Given the description of an element on the screen output the (x, y) to click on. 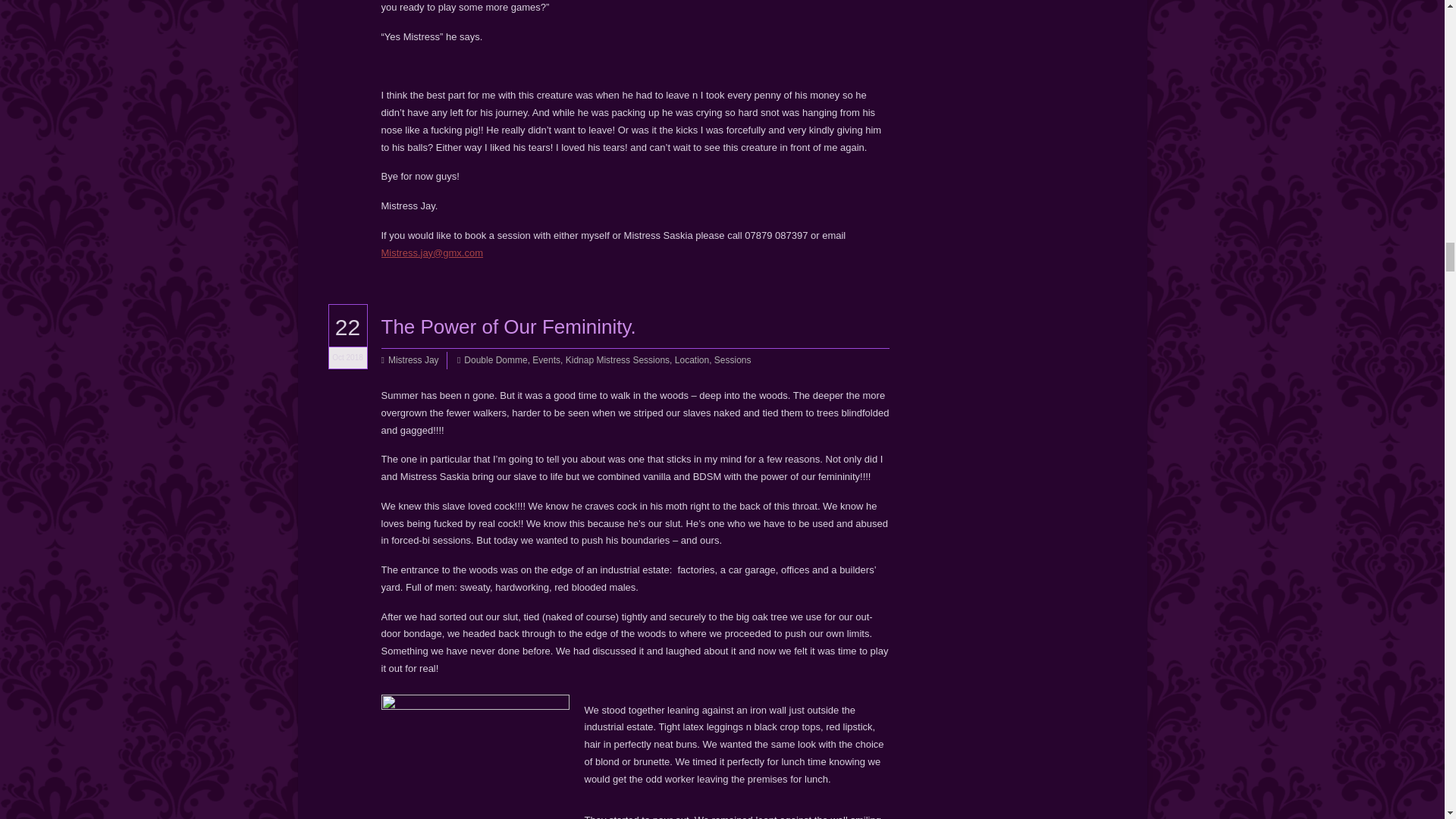
Posts by Mistress Jay (413, 360)
